Given the description of an element on the screen output the (x, y) to click on. 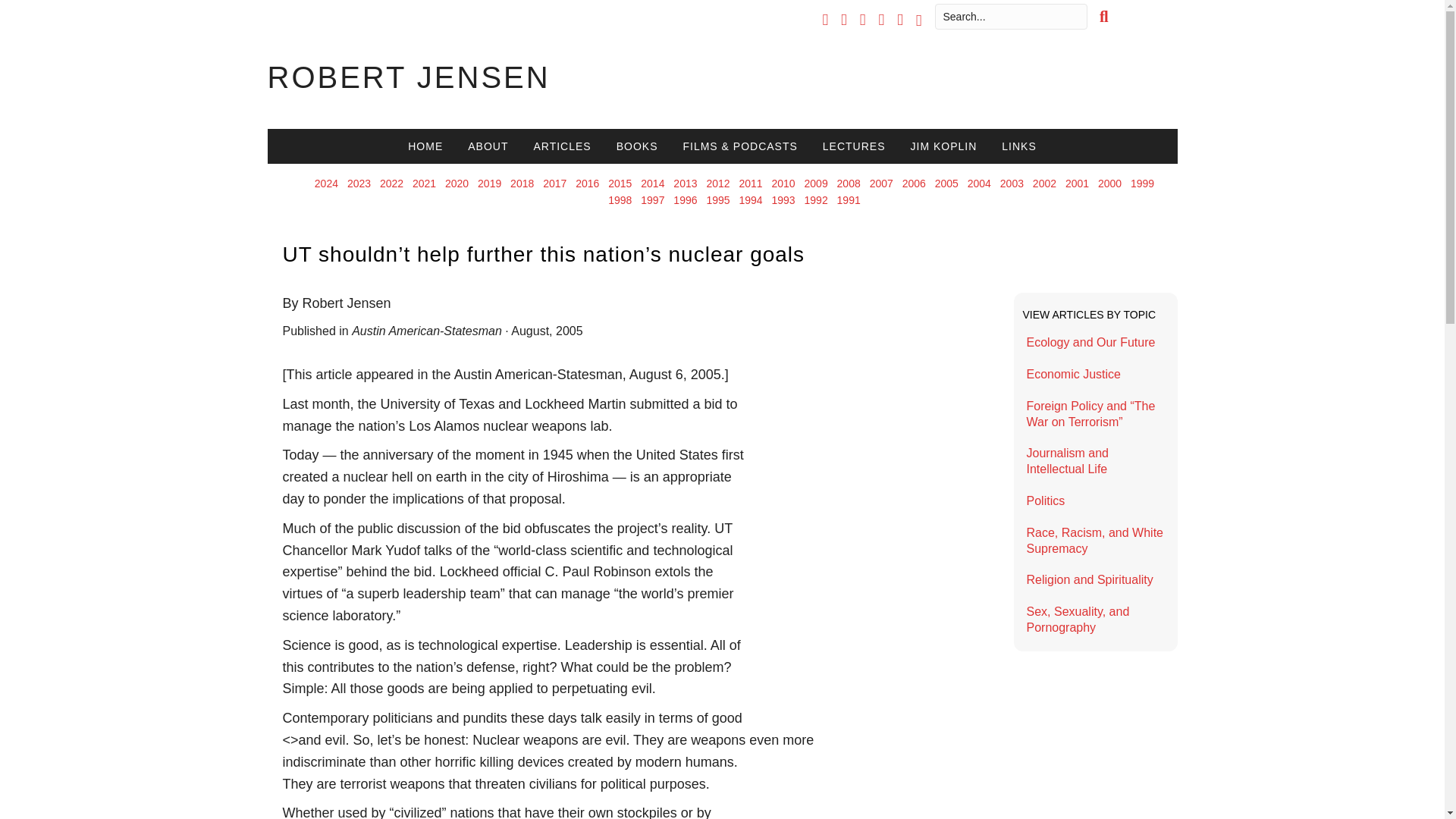
2013 (684, 183)
2022 (391, 183)
2021 (423, 183)
2020 (456, 183)
ROBERT JENSEN (408, 77)
2016 (586, 183)
2018 (522, 183)
2012 (717, 183)
ROBERT JENSEN (408, 77)
BOOKS (636, 145)
